Given the description of an element on the screen output the (x, y) to click on. 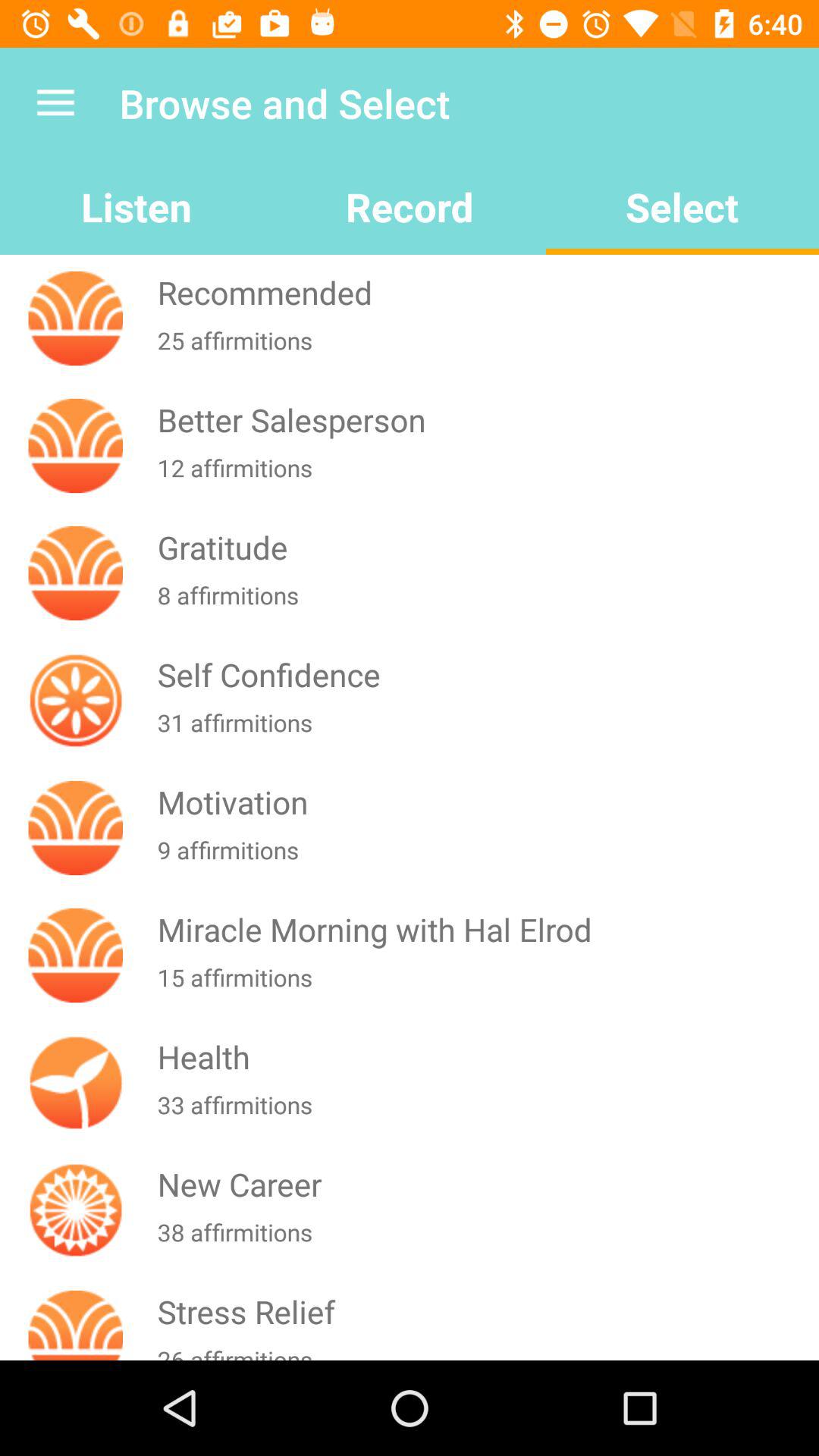
flip to motivation (484, 801)
